Given the description of an element on the screen output the (x, y) to click on. 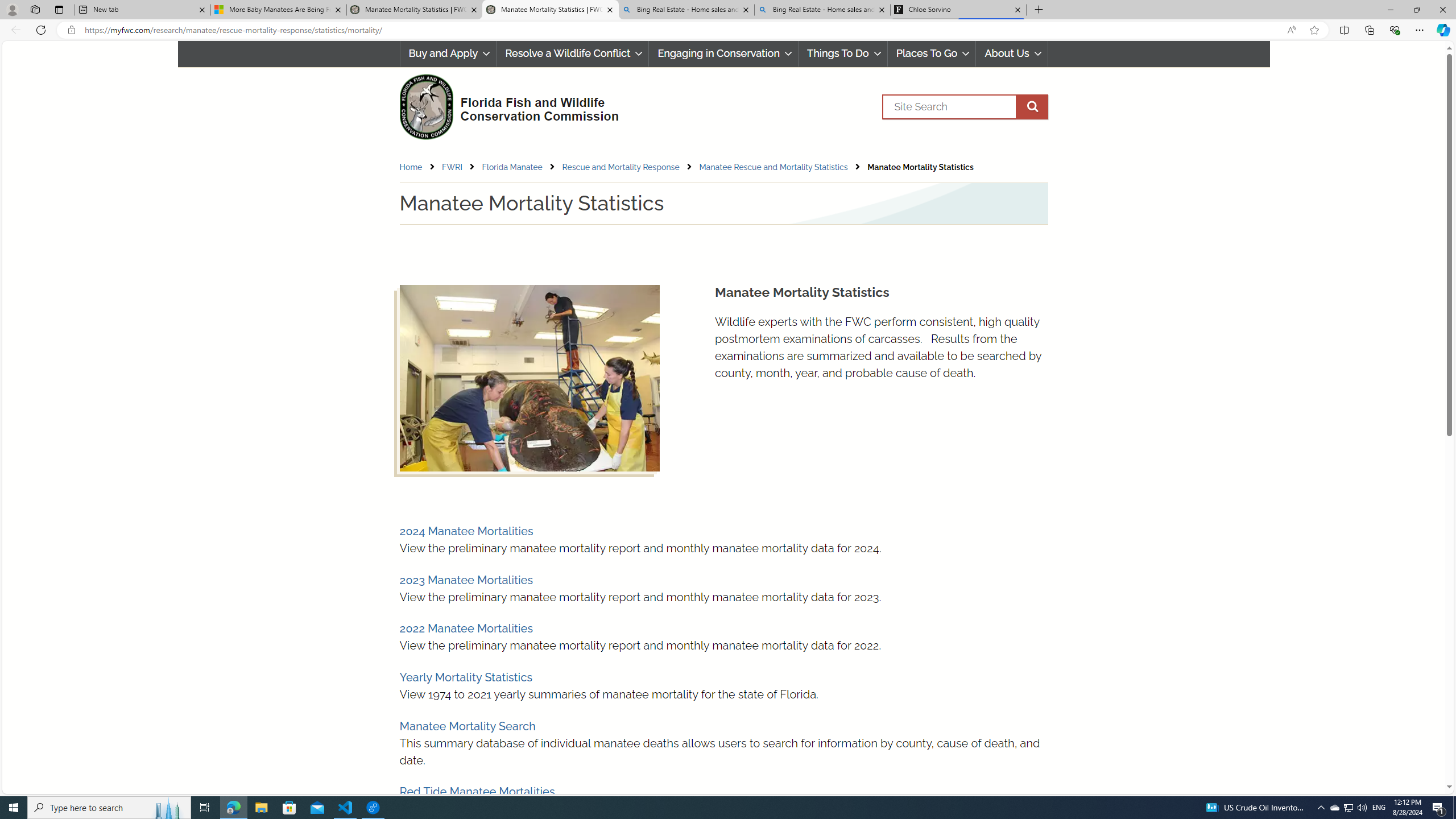
Manatee Mortality Search (466, 726)
Rescue and Mortality Response (620, 166)
Florida Manatee (512, 166)
Manatee Rescue and Mortality Statistics (772, 166)
Resolve a Wildlife Conflict (572, 53)
Buy and Apply (447, 53)
Resolve a Wildlife Conflict (572, 53)
2023 Manatee Mortalities (465, 579)
